Given the description of an element on the screen output the (x, y) to click on. 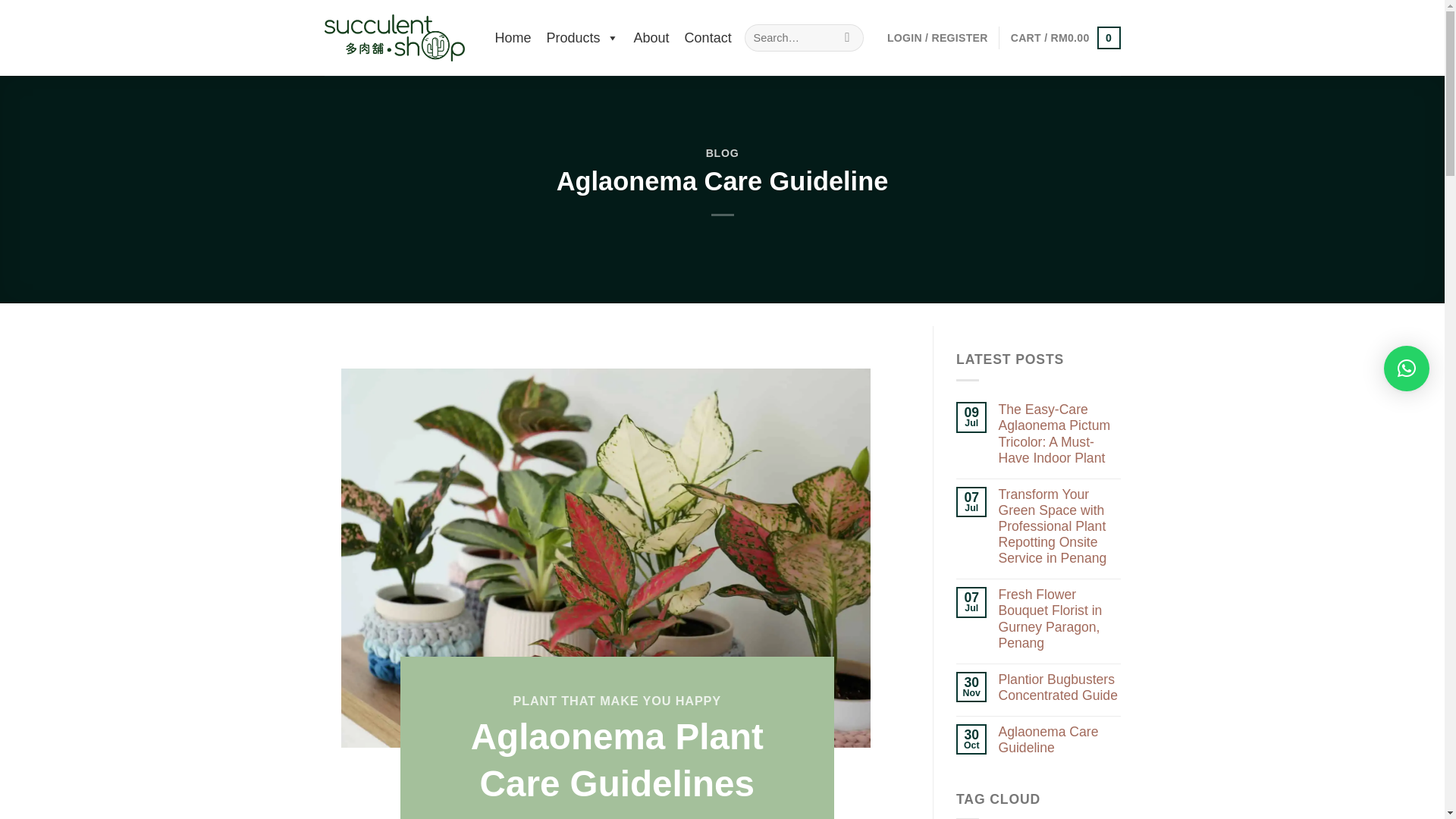
Home (512, 37)
Contact (708, 37)
Cart (1065, 37)
Products (582, 37)
Fresh Flower Bouquet Florist in Gurney Paragon, Penang (1058, 618)
Login (937, 38)
Fresh Flower Bouquet Florist in Gurney Paragon, Penang (1058, 618)
Search (847, 38)
BLOG (722, 152)
About (651, 37)
